Given the description of an element on the screen output the (x, y) to click on. 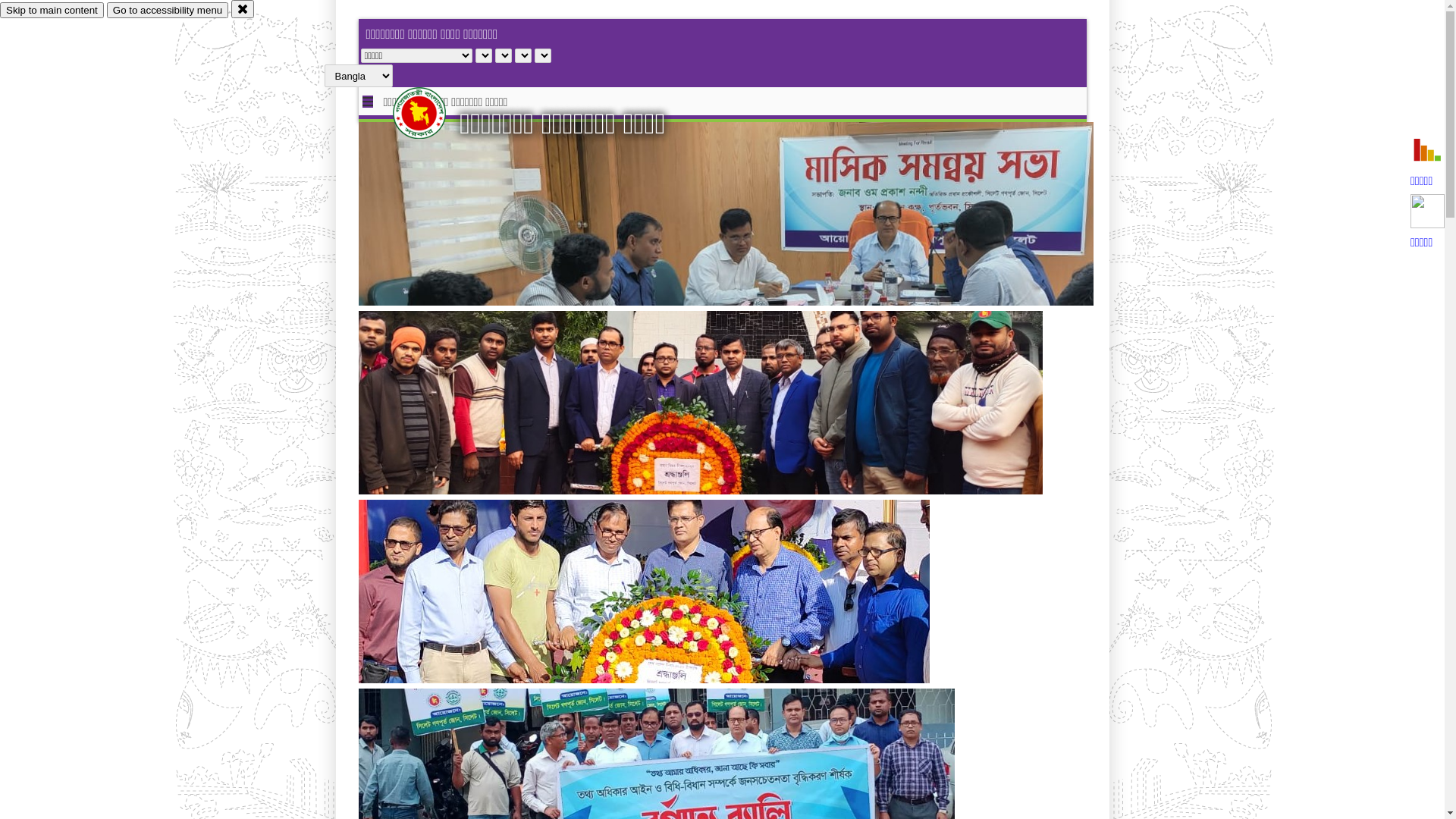
close Element type: hover (242, 9)

                
             Element type: hover (431, 112)
Go to accessibility menu Element type: text (167, 10)
Skip to main content Element type: text (51, 10)
